Given the description of an element on the screen output the (x, y) to click on. 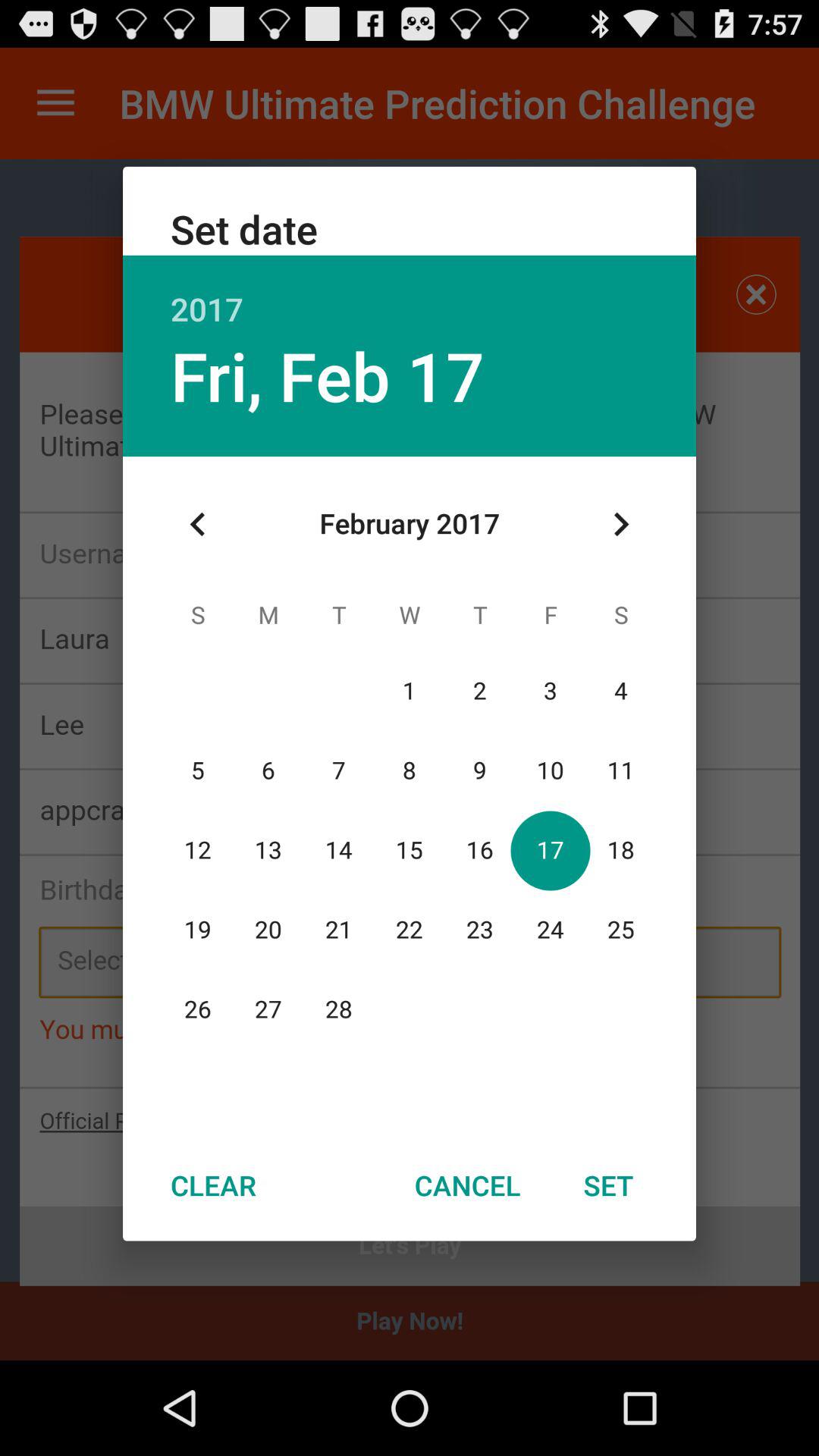
open fri, feb 17 icon (327, 375)
